Given the description of an element on the screen output the (x, y) to click on. 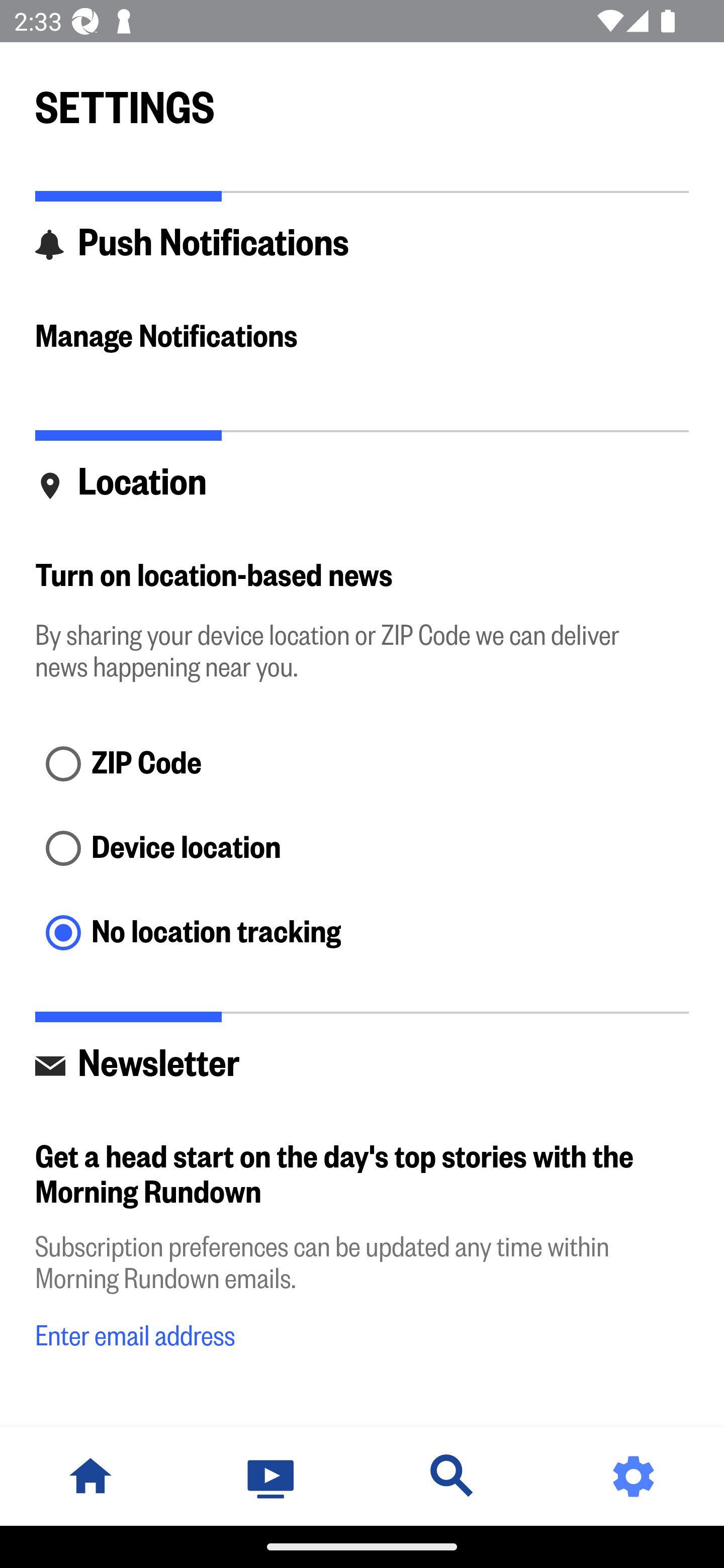
SETTINGS (362, 98)
Manage Notifications (362, 337)
ZIP Code (362, 764)
Device location (362, 849)
No location tracking (362, 934)
NBC News Home (90, 1475)
Watch (271, 1475)
Discover (452, 1475)
